Given the description of an element on the screen output the (x, y) to click on. 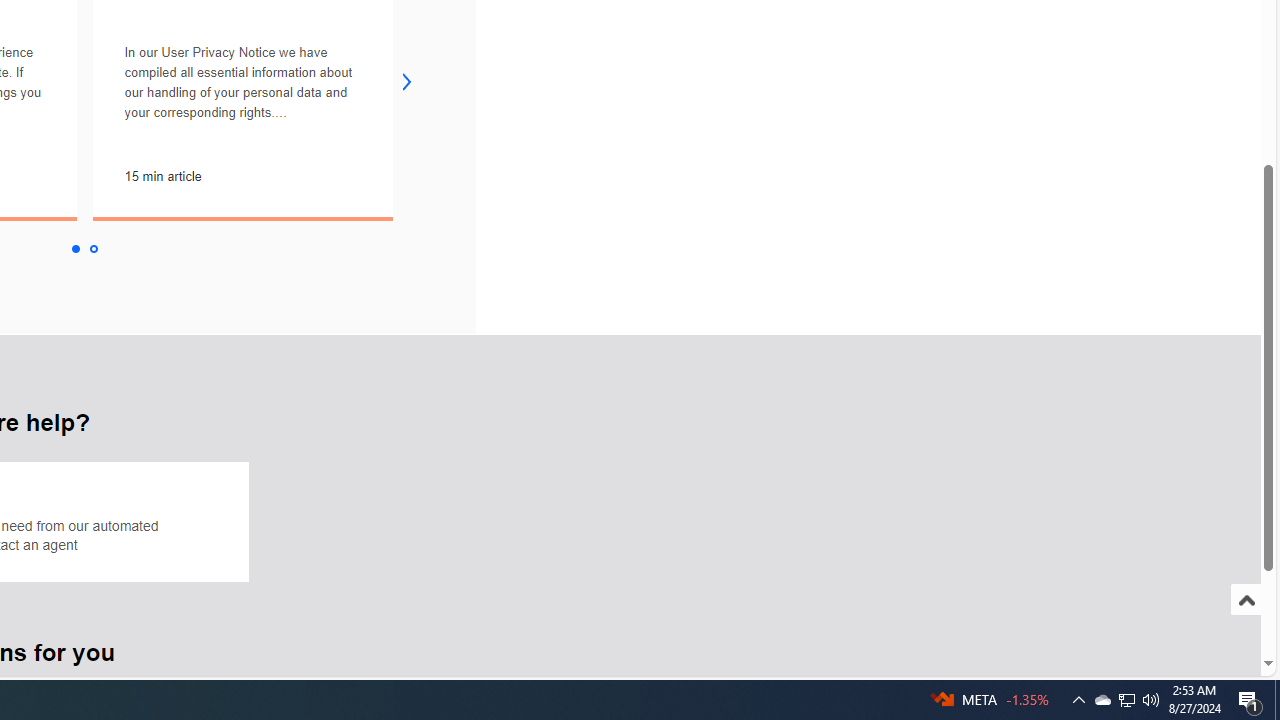
Scroll to top (1246, 620)
Slide 2  (93, 249)
Slide 1 selected (74, 249)
next slide (407, 81)
Scroll to top (1246, 599)
